Given the description of an element on the screen output the (x, y) to click on. 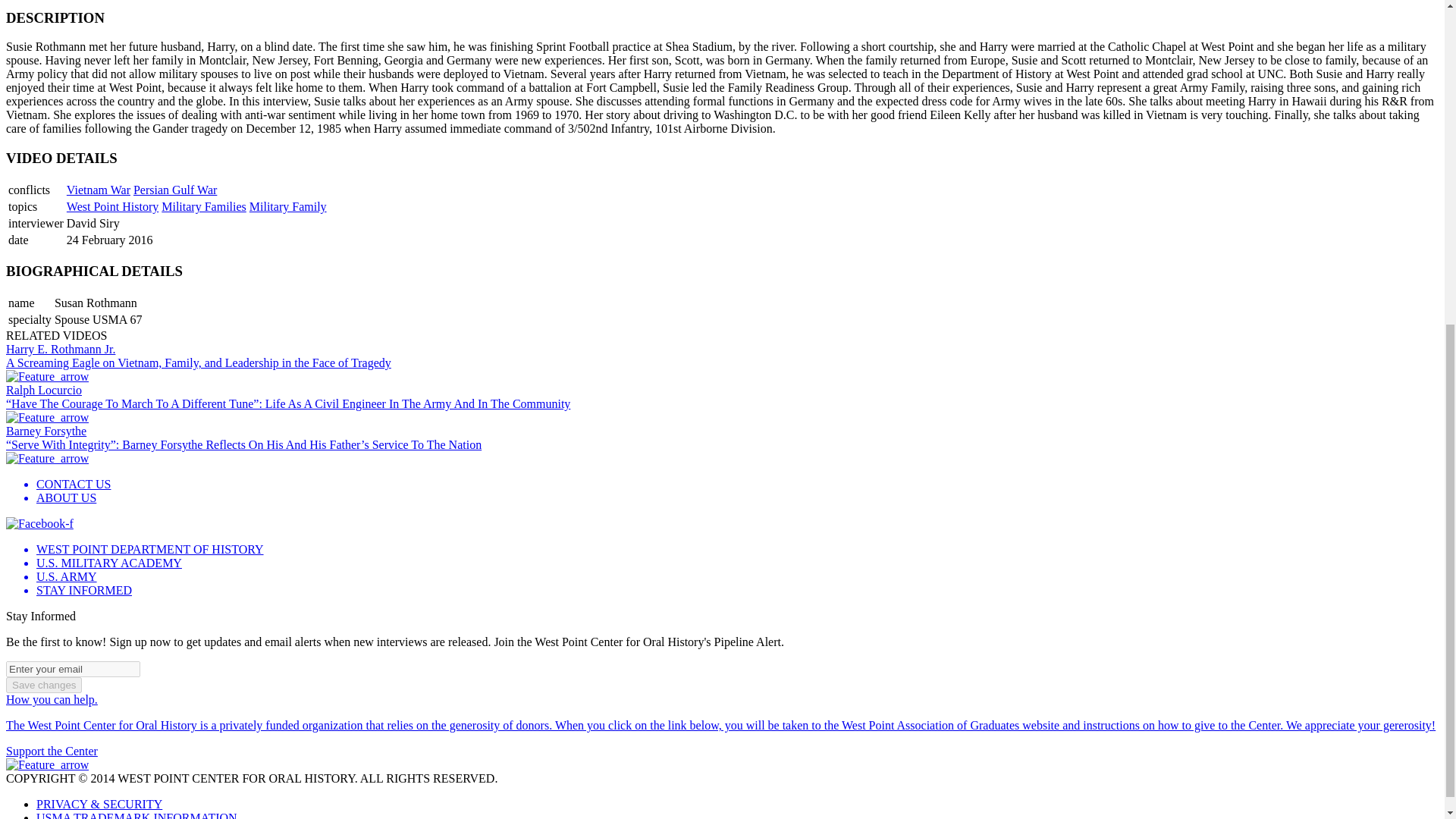
Save changes (43, 684)
Enter your email (72, 668)
Persian Gulf War (174, 189)
Vietnam War (98, 189)
West Point History (112, 205)
Military Families (203, 205)
Military Family (287, 205)
Save changes (43, 684)
